Given the description of an element on the screen output the (x, y) to click on. 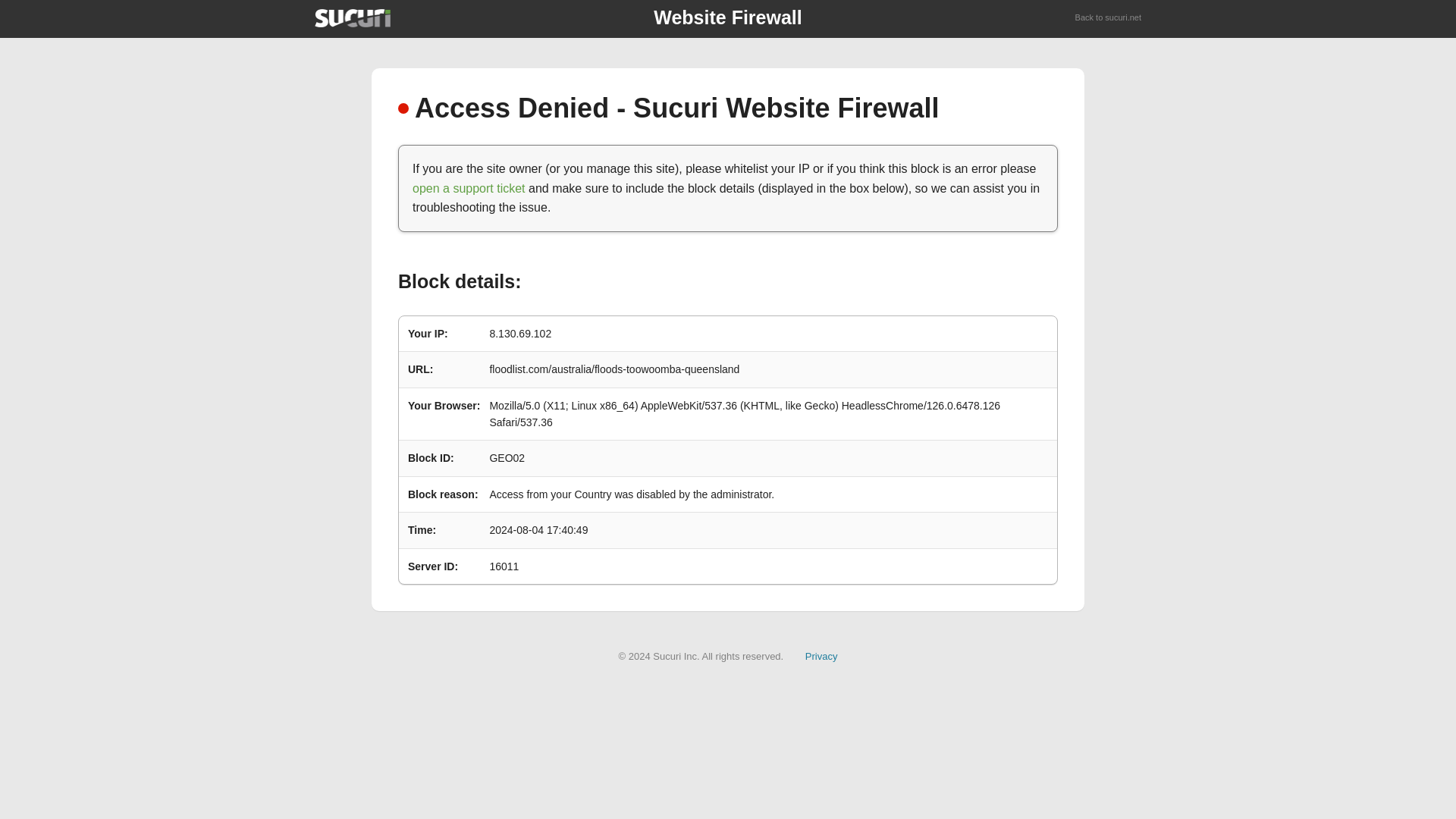
Back to sucuri.net (1108, 18)
Privacy (821, 655)
open a support ticket (468, 187)
